Given the description of an element on the screen output the (x, y) to click on. 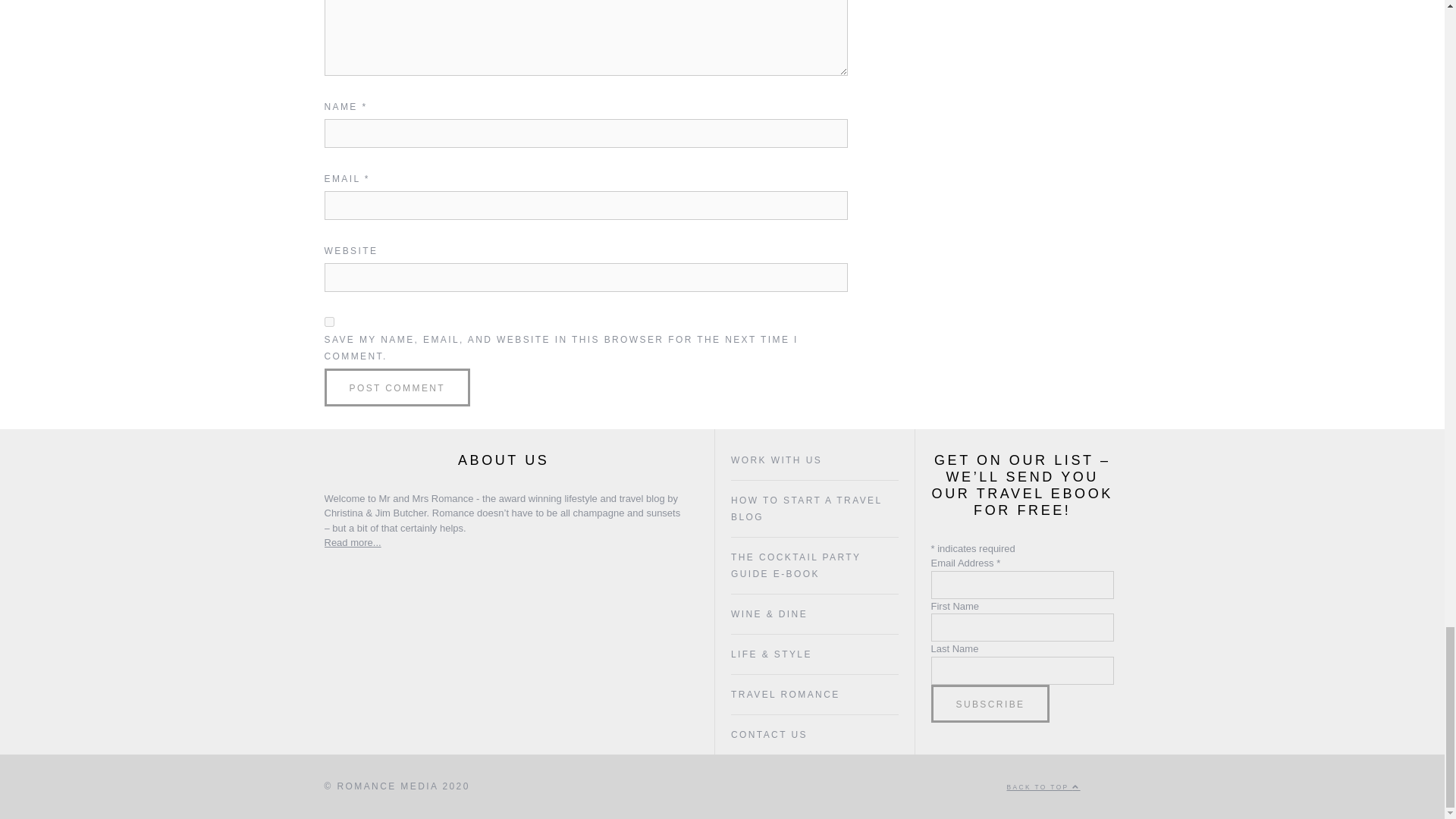
Subscribe (990, 703)
Post Comment (397, 387)
yes (329, 321)
